Given the description of an element on the screen output the (x, y) to click on. 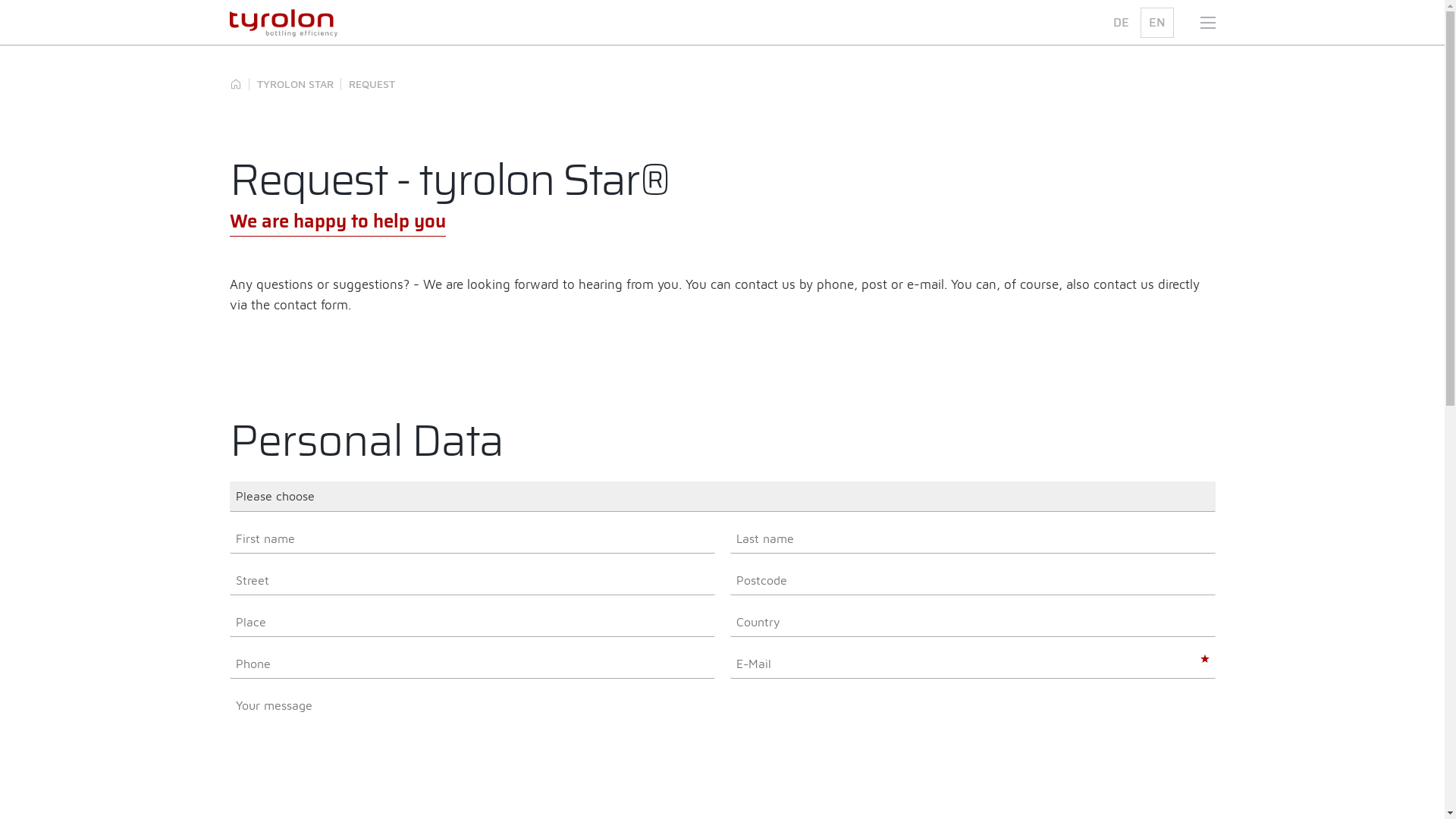
EN Element type: text (1156, 22)
TYROLON STAR Element type: text (294, 83)
DE Element type: text (1120, 22)
Tyrolon Element type: hover (235, 84)
REQUEST Element type: text (371, 83)
